Given the description of an element on the screen output the (x, y) to click on. 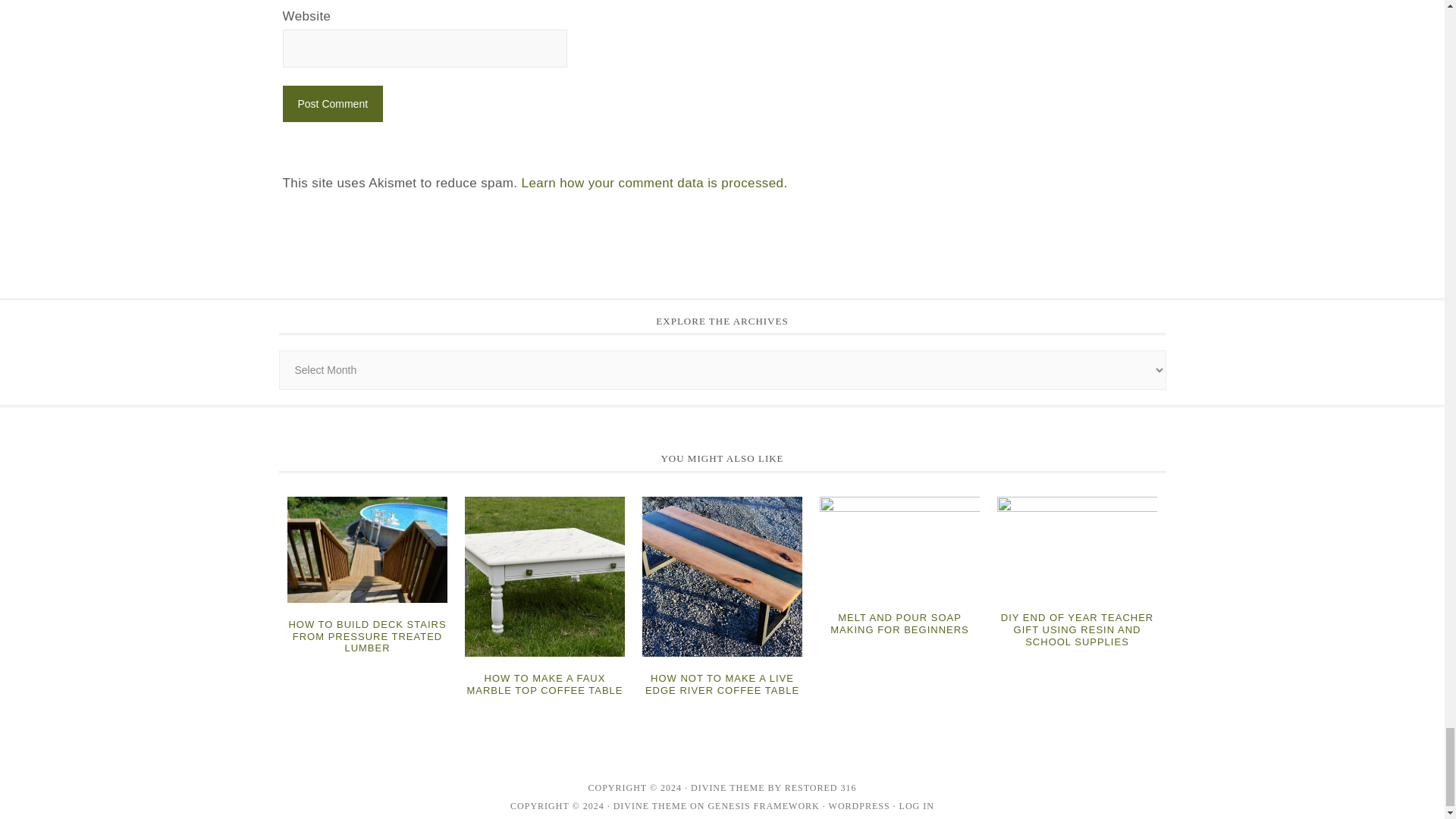
Post Comment (332, 103)
Learn how your comment data is processed (652, 183)
Post Comment (332, 103)
